Given the description of an element on the screen output the (x, y) to click on. 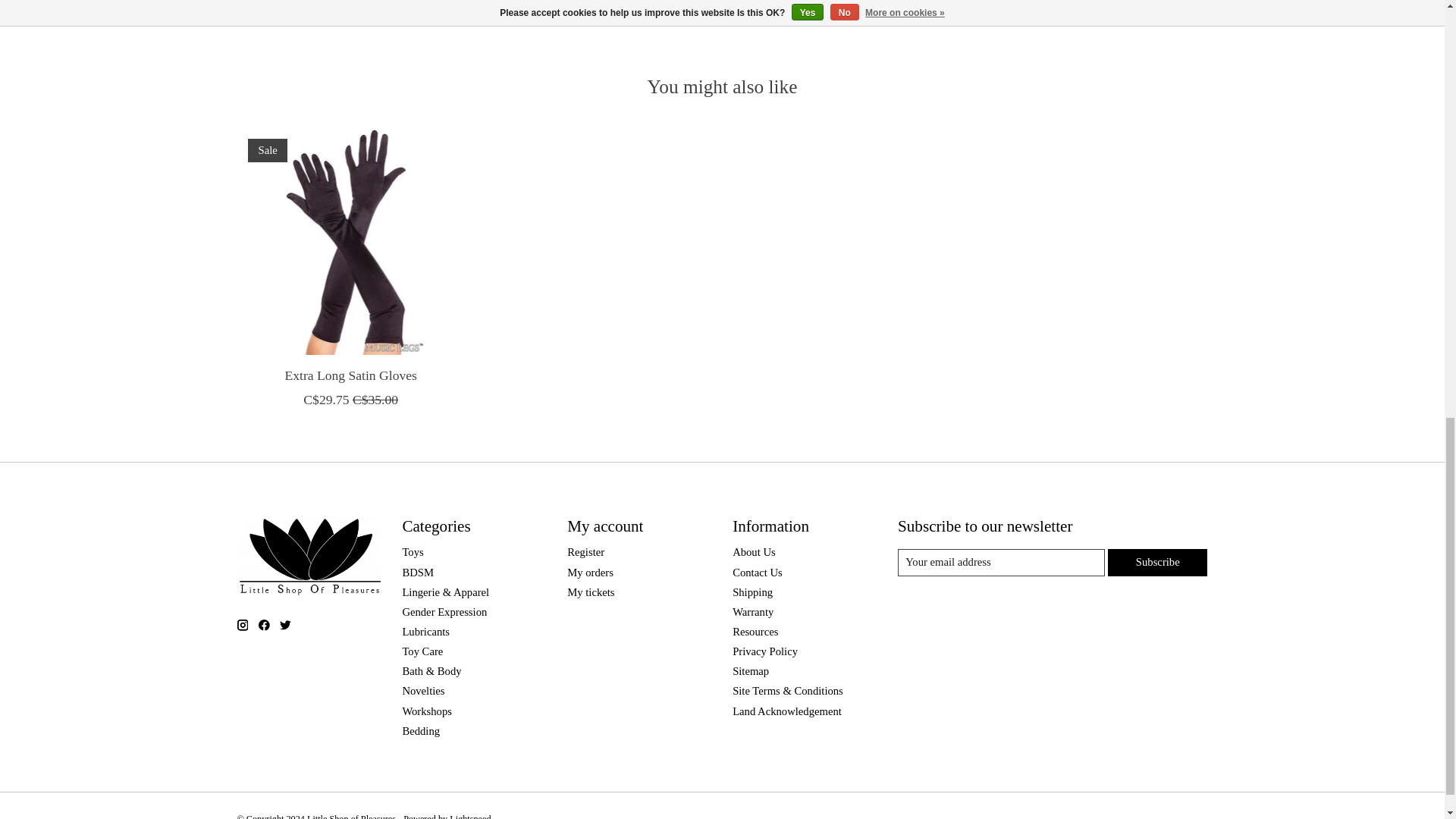
Music Legs Extra Long Satin Gloves (349, 240)
Shipping (752, 592)
Resources (754, 631)
About Us (754, 551)
Privacy Policy (764, 651)
My tickets (590, 592)
Contact Us (757, 572)
My orders (589, 572)
Register (585, 551)
Land Acknowledgement (786, 711)
